Given the description of an element on the screen output the (x, y) to click on. 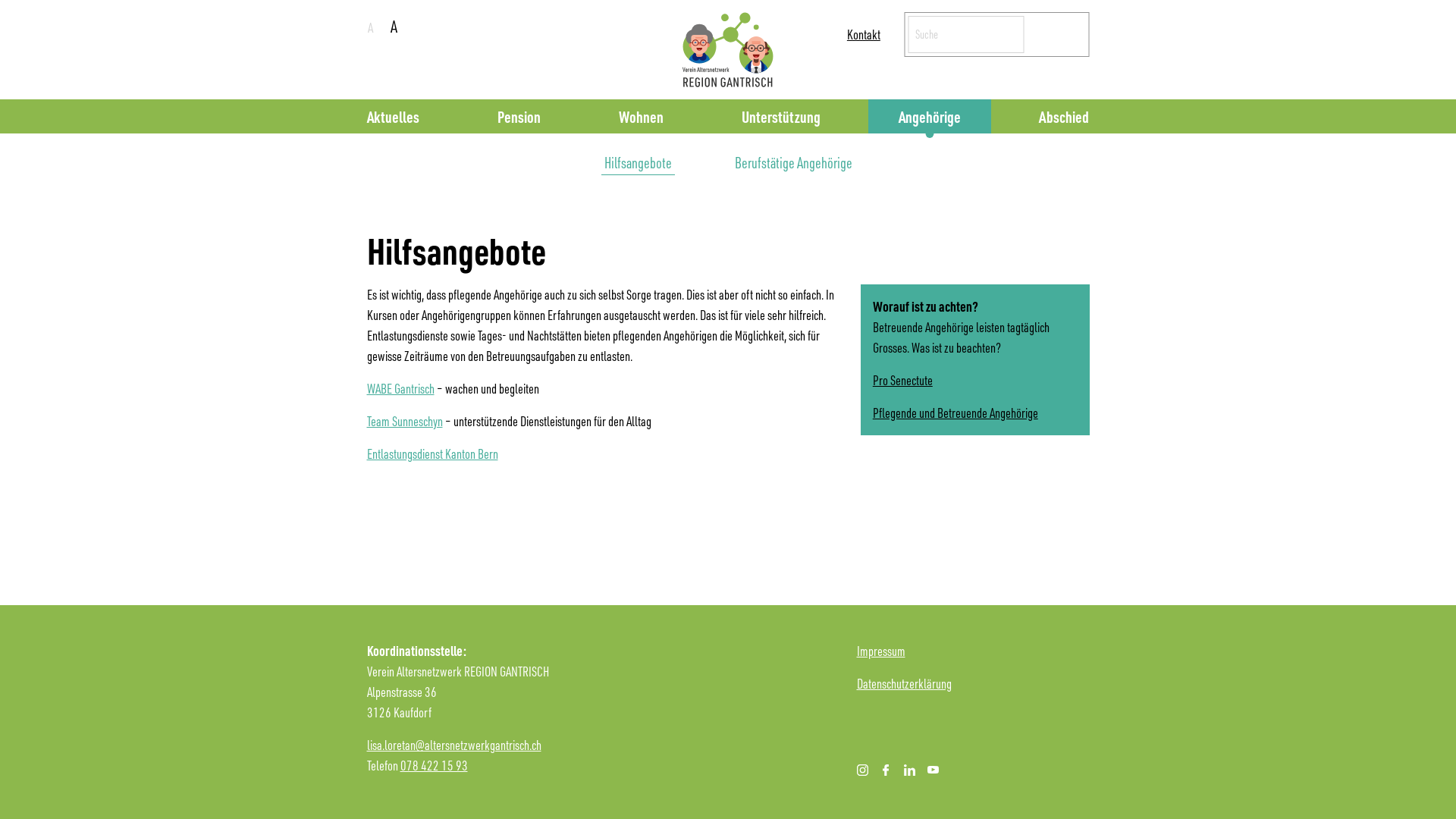
Wohnen Element type: text (640, 116)
Facebook Element type: text (885, 769)
A Element type: text (396, 25)
Impressum Element type: text (880, 650)
Instagram Element type: text (862, 769)
078 422 15 93 Element type: text (433, 765)
Aktuelles Element type: text (392, 116)
Hilfsangebote Element type: text (456, 250)
Pro Senectute Element type: text (902, 379)
Kontakt Element type: text (863, 34)
A Element type: text (368, 26)
YouTube Element type: text (932, 769)
WABE Gantrisch Element type: text (400, 388)
Team Sunneschyn Element type: text (404, 420)
lisa.loretan@altersnetzwerkgantrisch.ch Element type: text (454, 744)
Hilfsangebote Element type: text (637, 161)
Abschied Element type: text (1063, 116)
LinkedIn Element type: text (909, 769)
Pension Element type: text (519, 116)
Entlastungsdienst Kanton Bern Element type: text (432, 453)
